Given the description of an element on the screen output the (x, y) to click on. 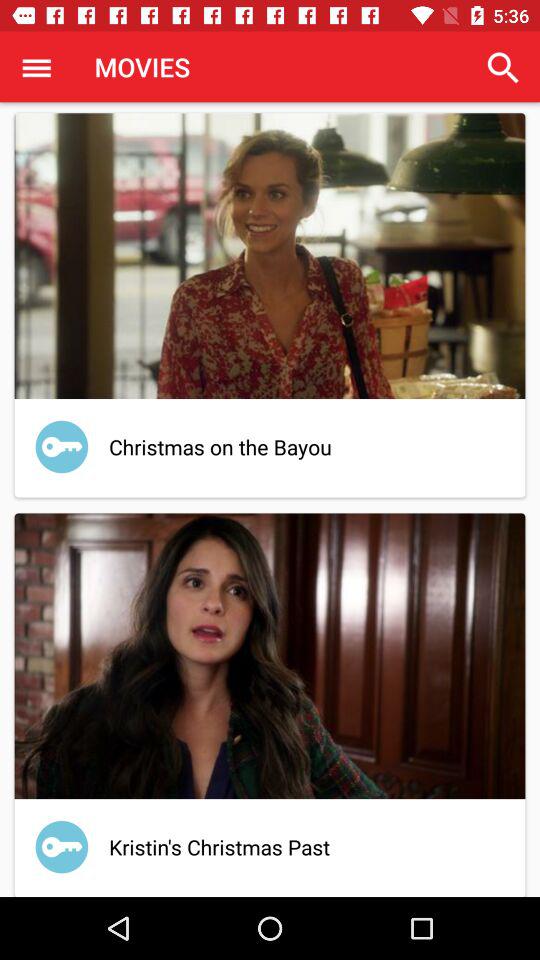
open the app next to the movies icon (36, 67)
